Given the description of an element on the screen output the (x, y) to click on. 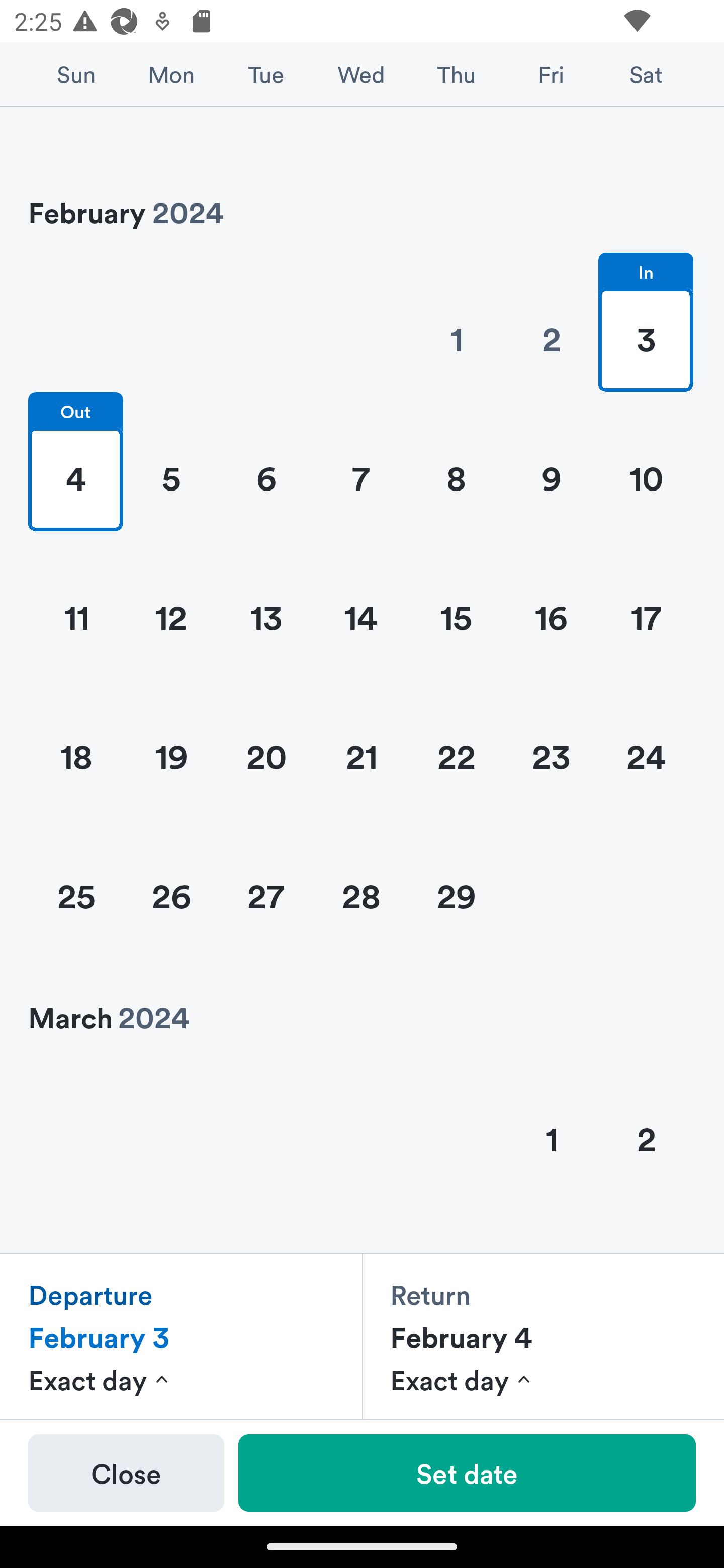
Close (126, 1472)
Set date (466, 1472)
